Given the description of an element on the screen output the (x, y) to click on. 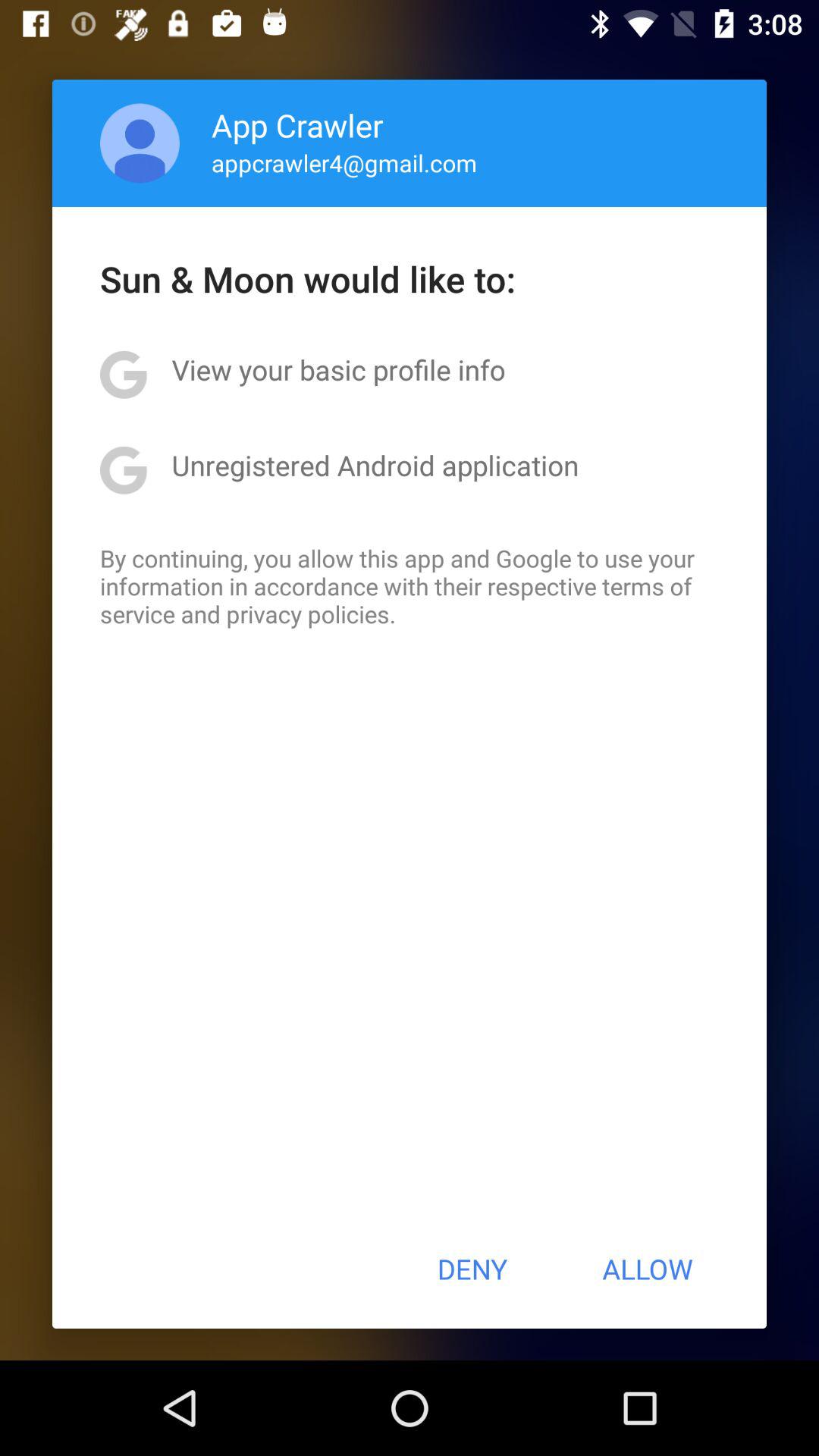
swipe until the app crawler item (297, 124)
